Given the description of an element on the screen output the (x, y) to click on. 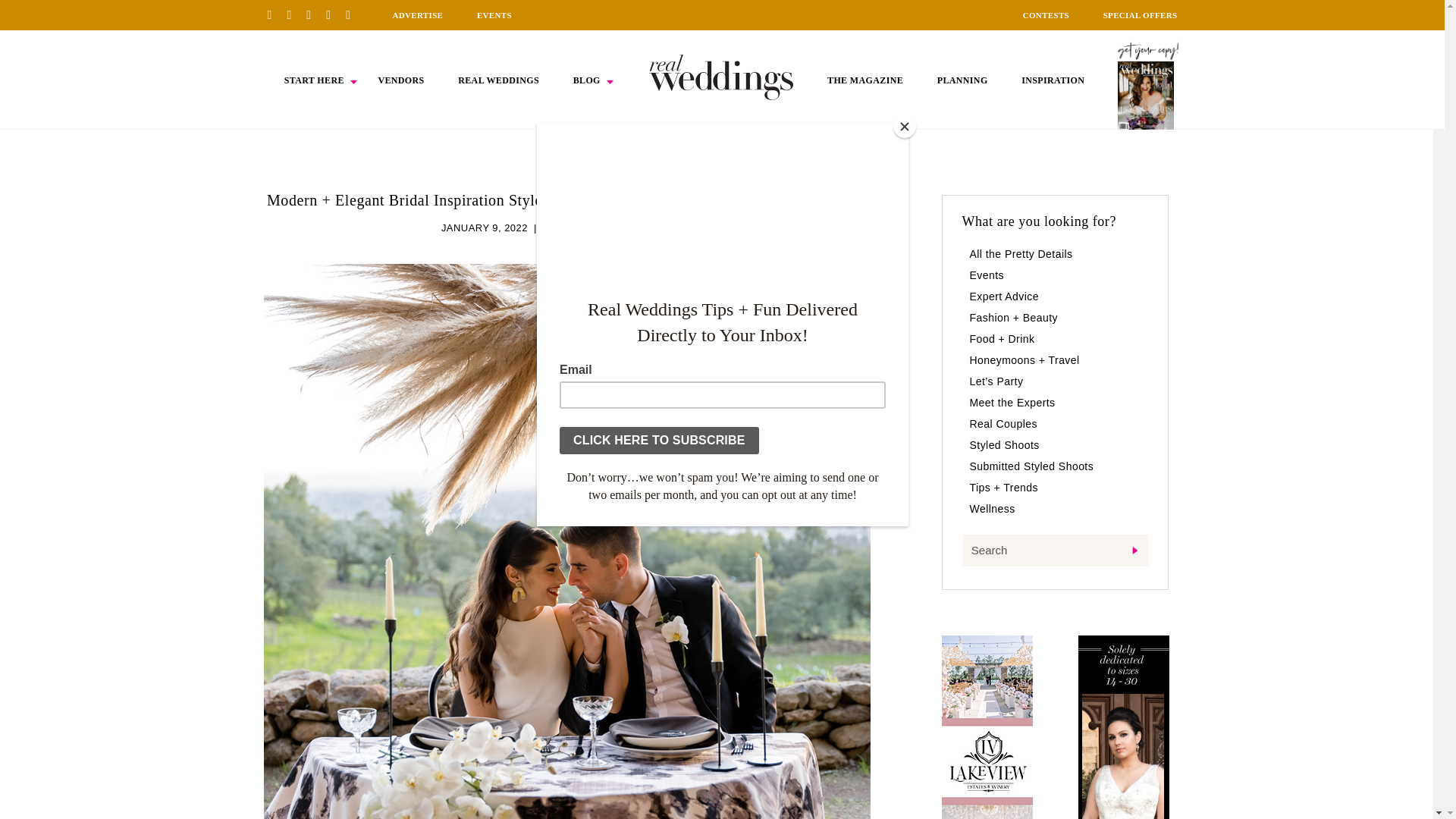
ADVERTISE (416, 14)
HOME (721, 76)
VENDORS (400, 80)
YouTube (353, 14)
CONTESTS (1045, 14)
SPECIAL OFFERS (1140, 14)
SUBMITTED STYLED SHOOTS (618, 227)
INSPIRATION (1053, 80)
REAL WEDDINGS (498, 80)
Pinterest (274, 14)
THE MAGAZINE (864, 80)
PLANNING (962, 80)
EVENTS (494, 14)
Instagram (313, 14)
Search (1054, 550)
